Given the description of an element on the screen output the (x, y) to click on. 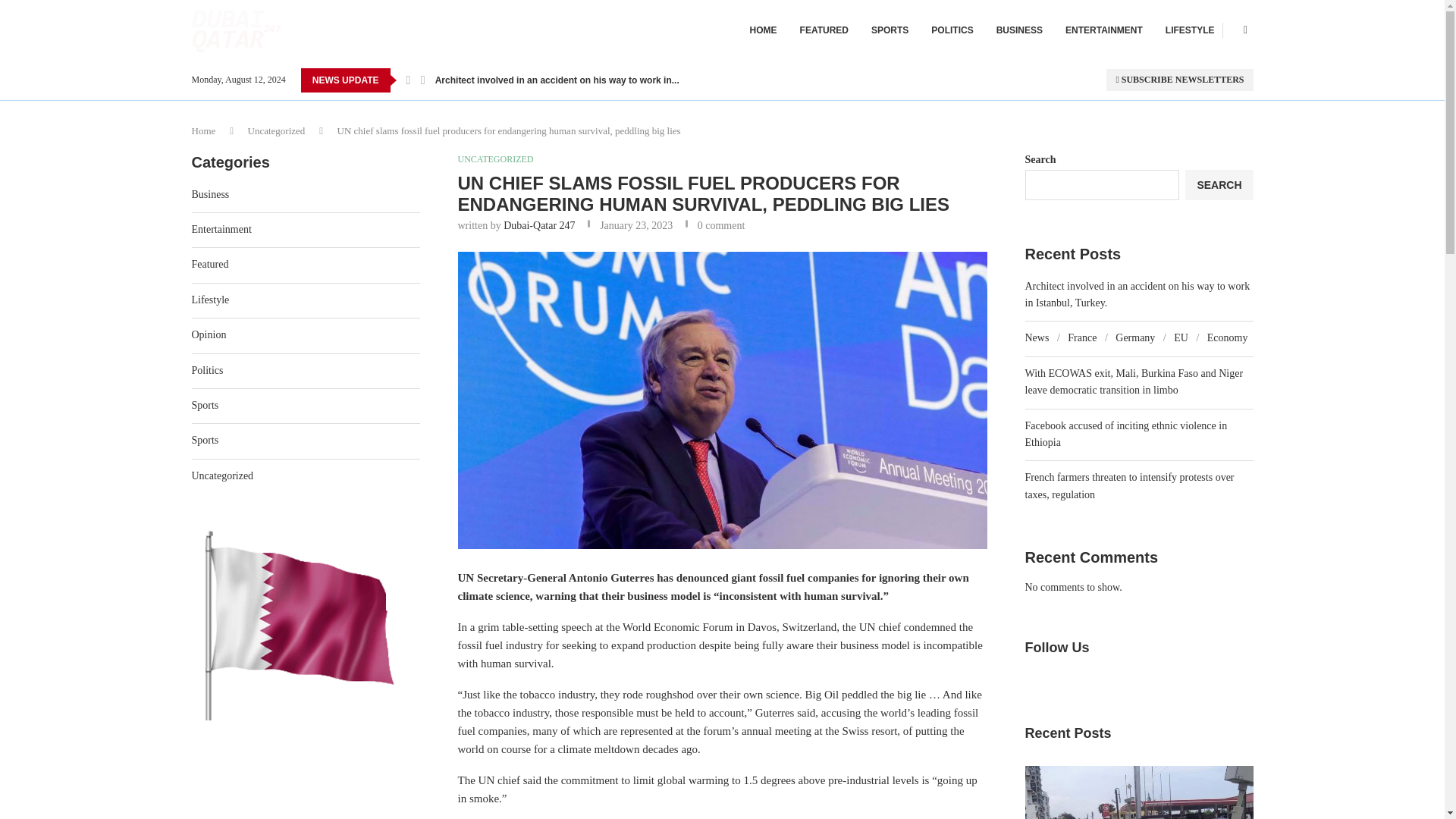
POLITICS (951, 30)
Architect involved in an accident on his way to work in... (557, 79)
FEATURED (823, 30)
ENTERTAINMENT (1103, 30)
Search (1205, 6)
LIFESTYLE (1190, 30)
BUSINESS (1018, 30)
Search (1205, 59)
